Given the description of an element on the screen output the (x, y) to click on. 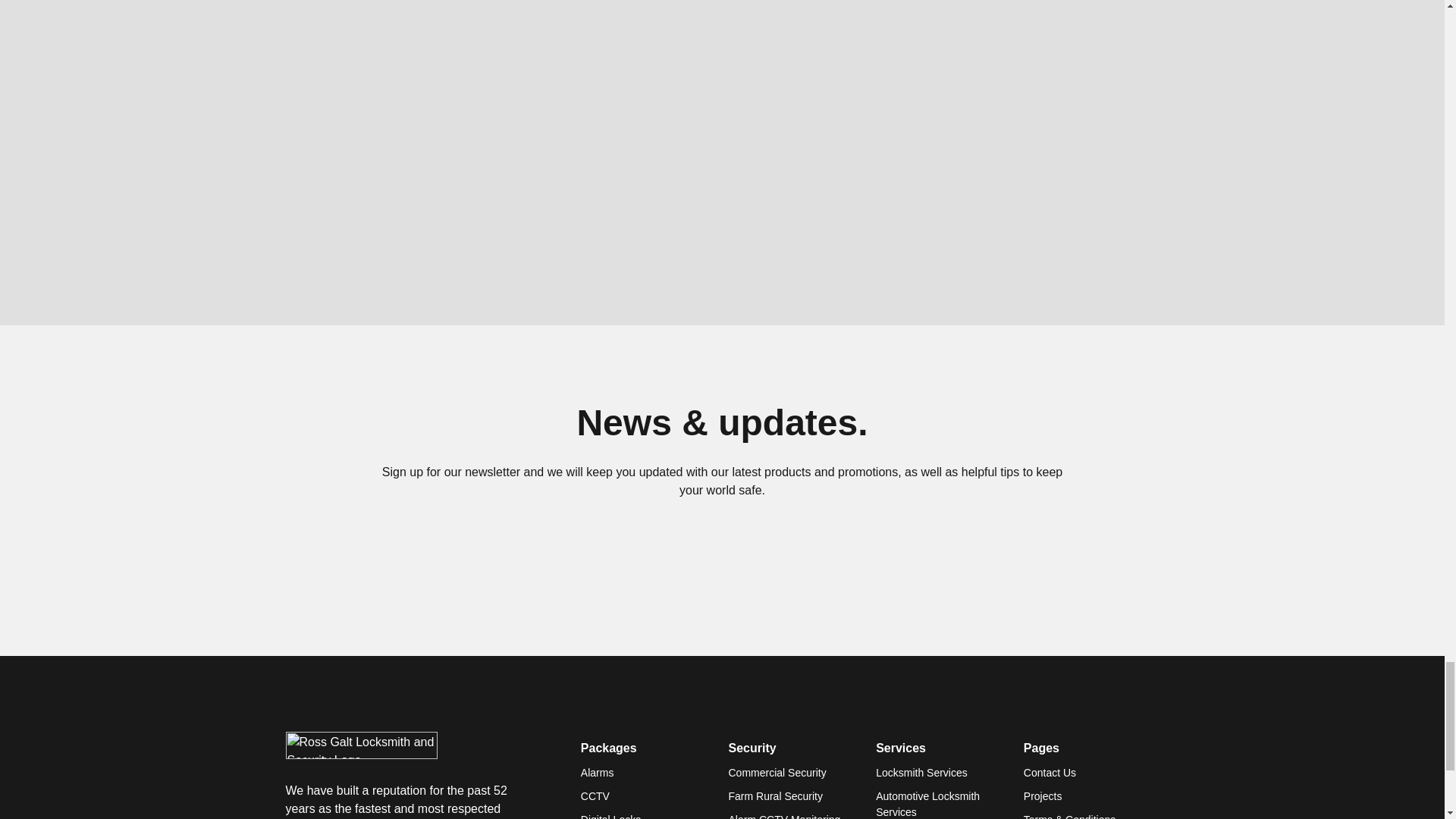
CCTV (595, 796)
Alarms (597, 772)
Submit (824, 572)
Digital Locks (610, 815)
